Given the description of an element on the screen output the (x, y) to click on. 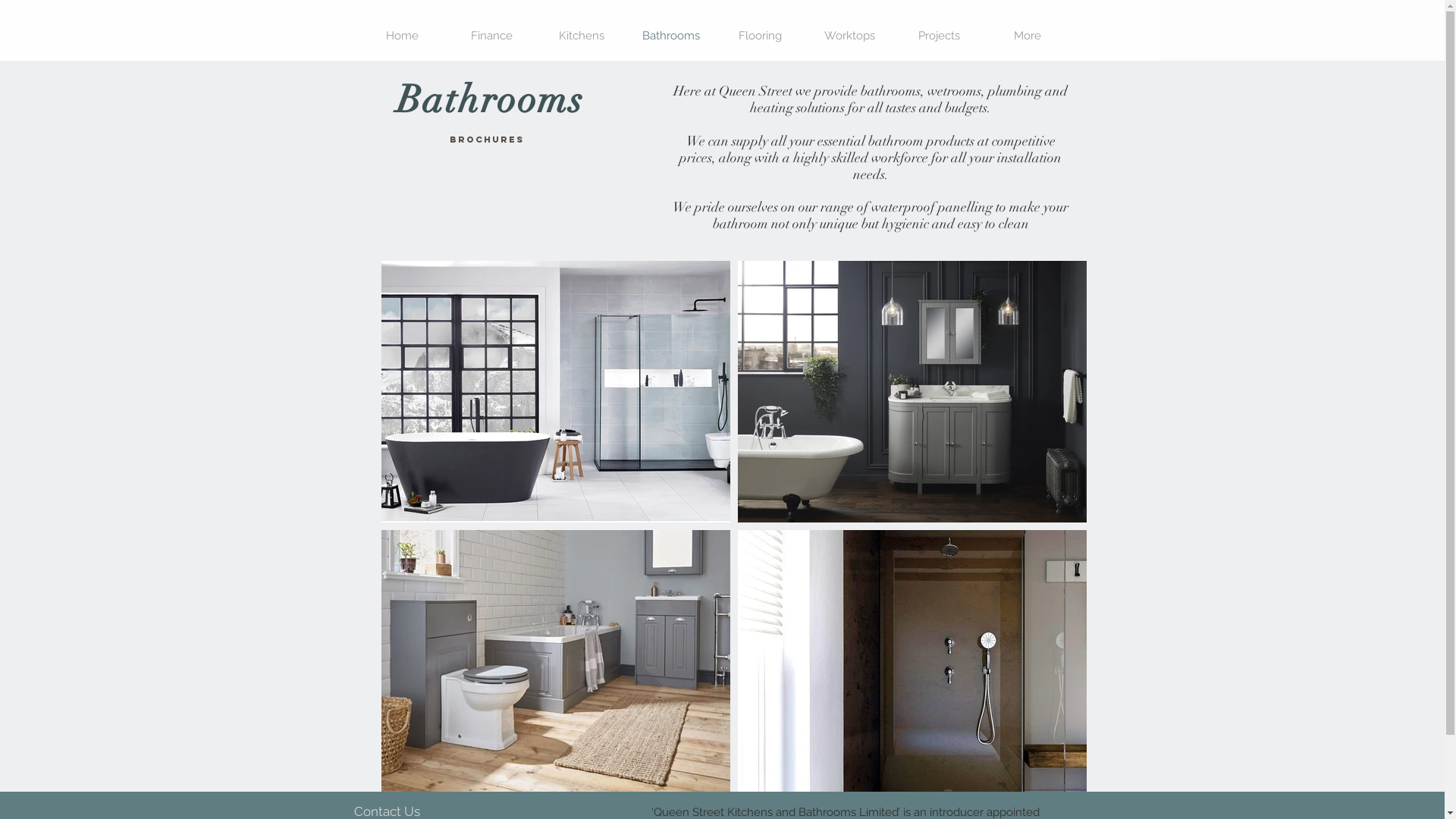
Flooring Element type: text (760, 35)
Brochures Element type: text (485, 139)
Worktops Element type: text (849, 35)
Home Element type: text (402, 35)
Finance Element type: text (491, 35)
Kitchens Element type: text (581, 35)
Bathrooms Element type: text (670, 35)
Projects Element type: text (938, 35)
